Given the description of an element on the screen output the (x, y) to click on. 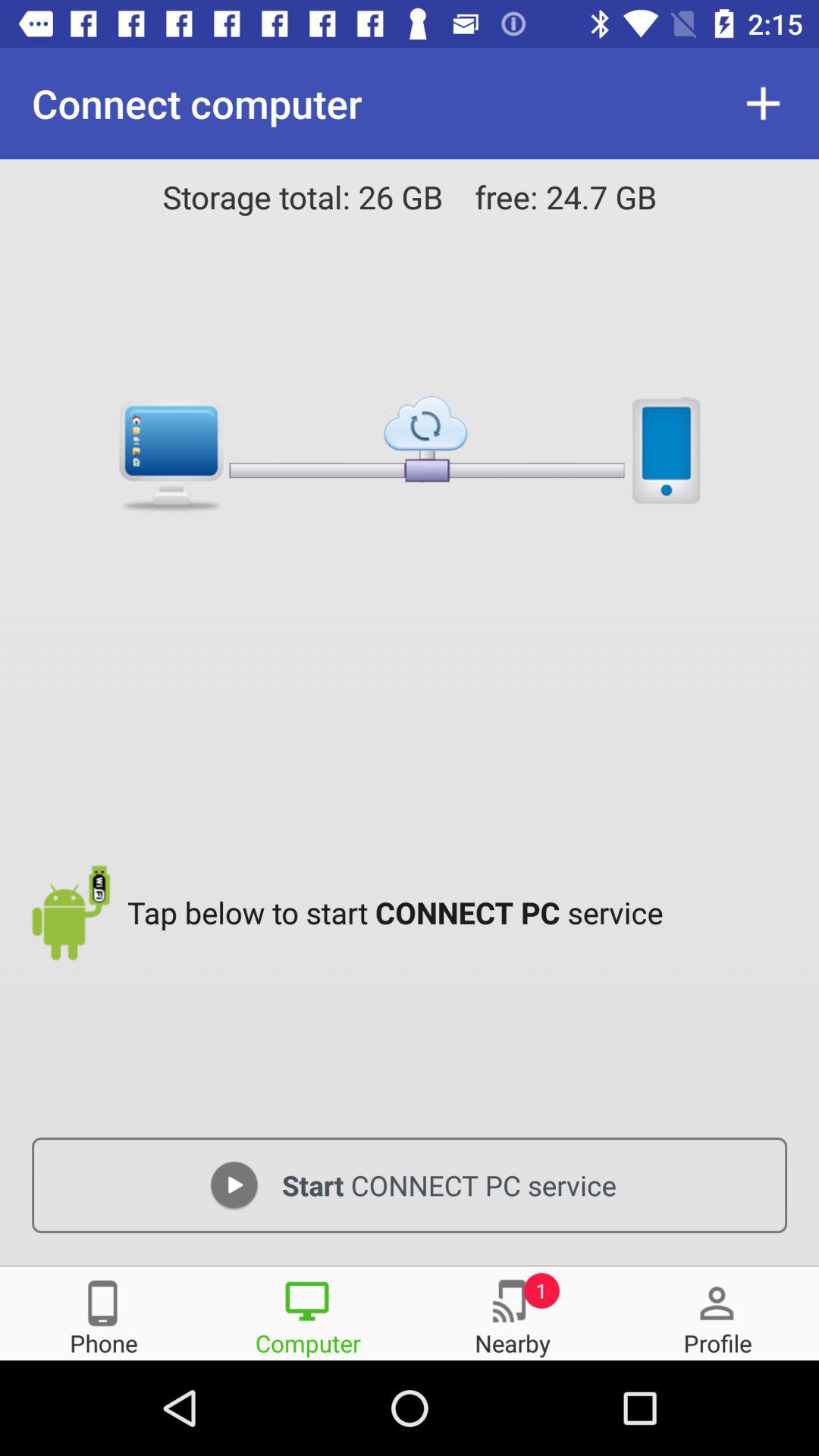
jump to tap below to item (461, 912)
